Given the description of an element on the screen output the (x, y) to click on. 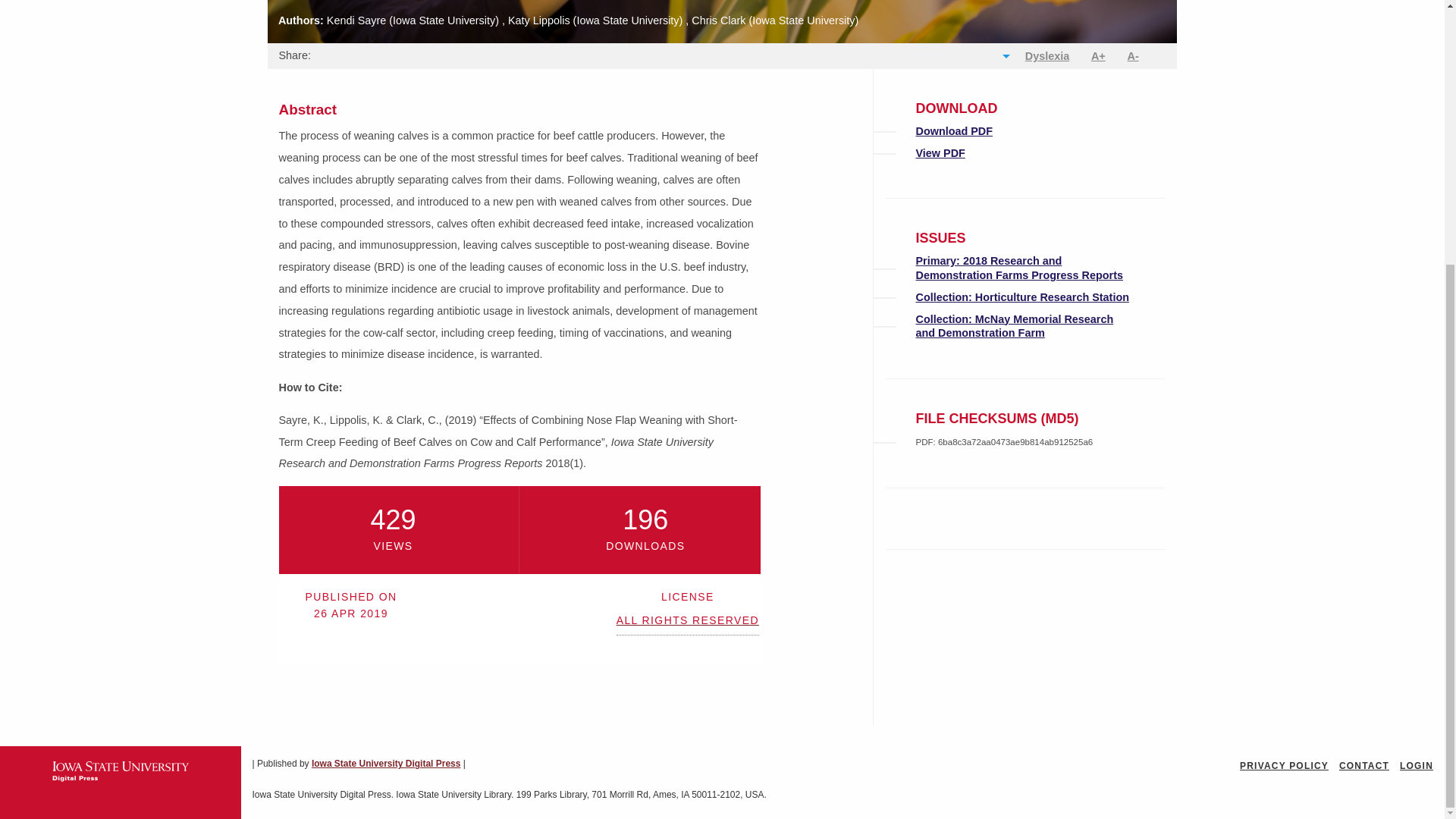
Dyslexia (1046, 56)
ALL RIGHTS RESERVED (686, 623)
Iowa State University Digital Press (385, 763)
ALL RIGHTS RESERVED (686, 623)
View PDF (940, 152)
Collection: McNay Memorial Research and Demonstration Farm (1014, 325)
PRIVACY POLICY (1283, 765)
CONTACT (1364, 765)
A- (1133, 56)
Download PDF (953, 131)
Collection: Horticulture Research Station (1022, 297)
